Given the description of an element on the screen output the (x, y) to click on. 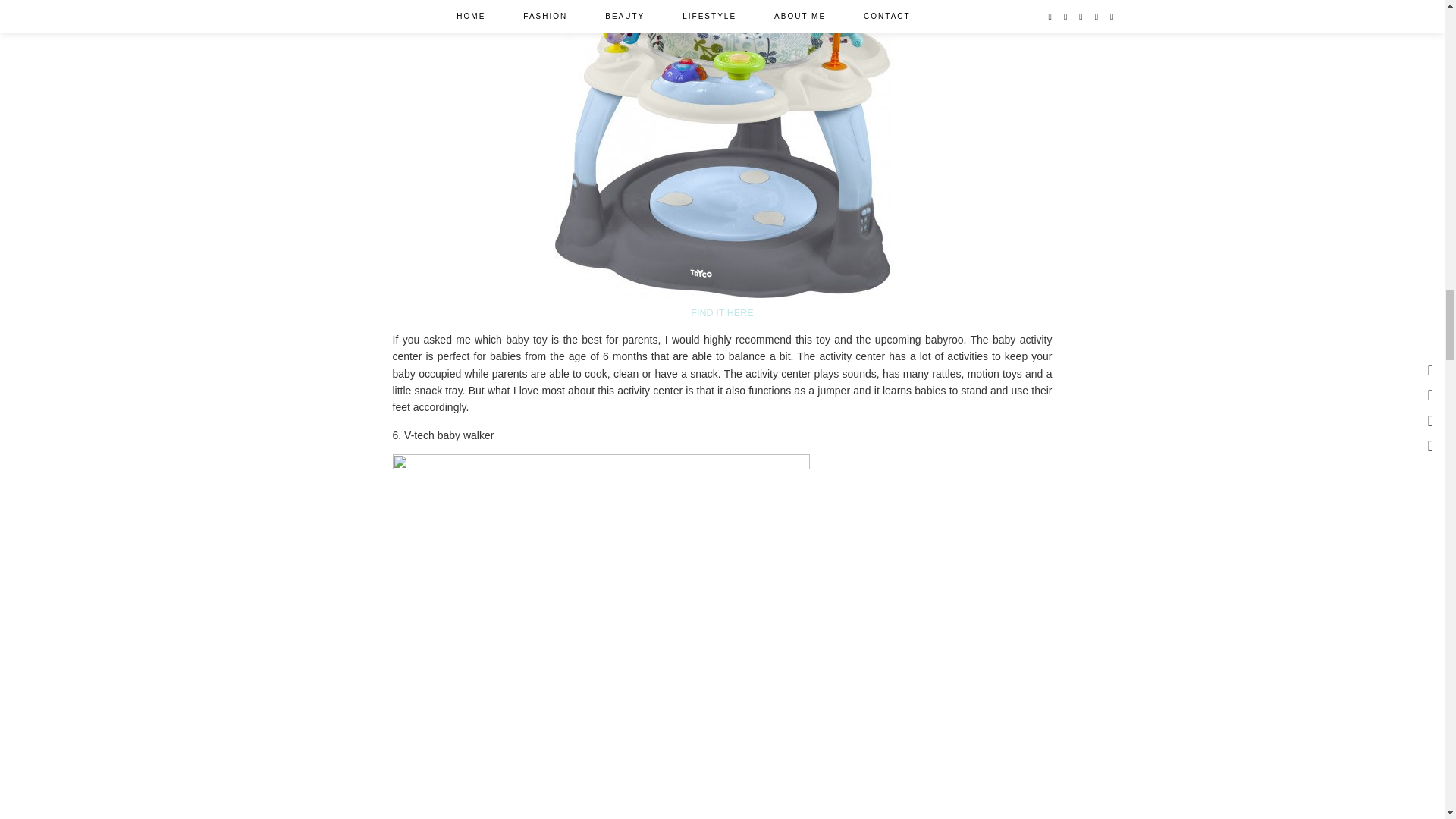
FIND IT HERE (721, 312)
